Given the description of an element on the screen output the (x, y) to click on. 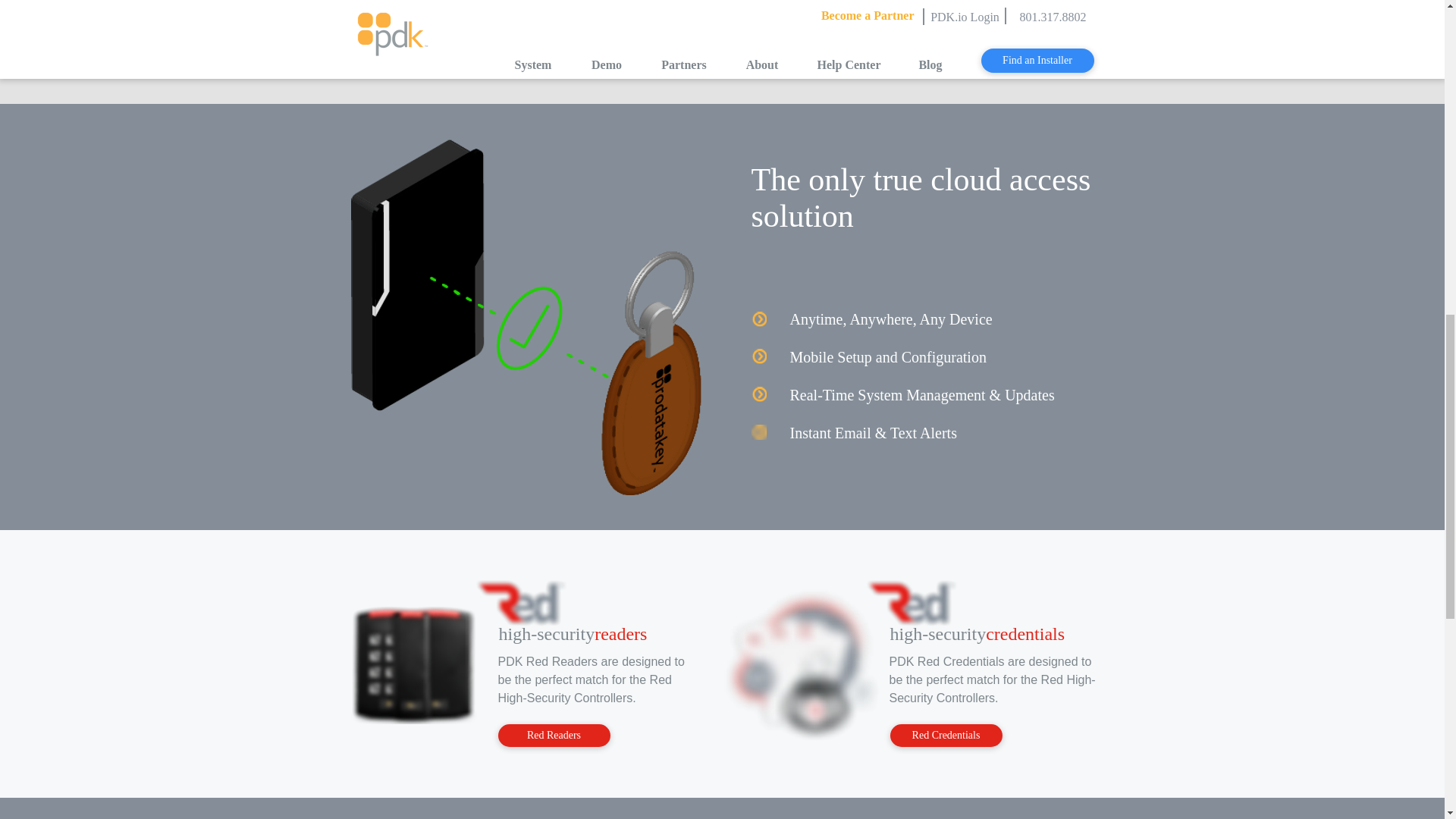
Red Credentials (946, 734)
Red Readers (553, 734)
